Given the description of an element on the screen output the (x, y) to click on. 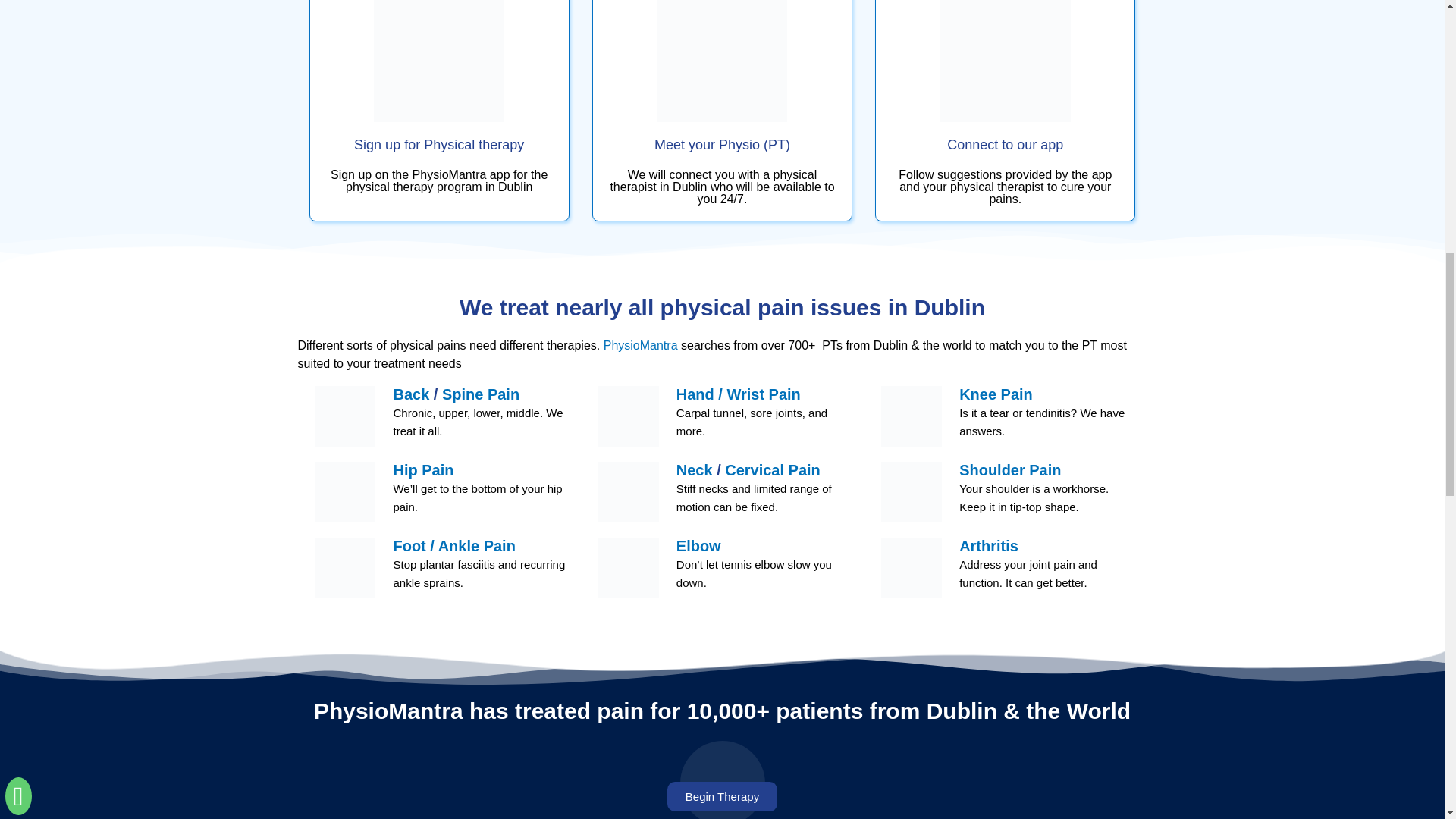
testimonial2 (721, 780)
Back (412, 393)
Chronic, upper, lower, middle. We treat it all. (477, 421)
PhysioMantra (641, 345)
Spine Pain (480, 393)
